Given the description of an element on the screen output the (x, y) to click on. 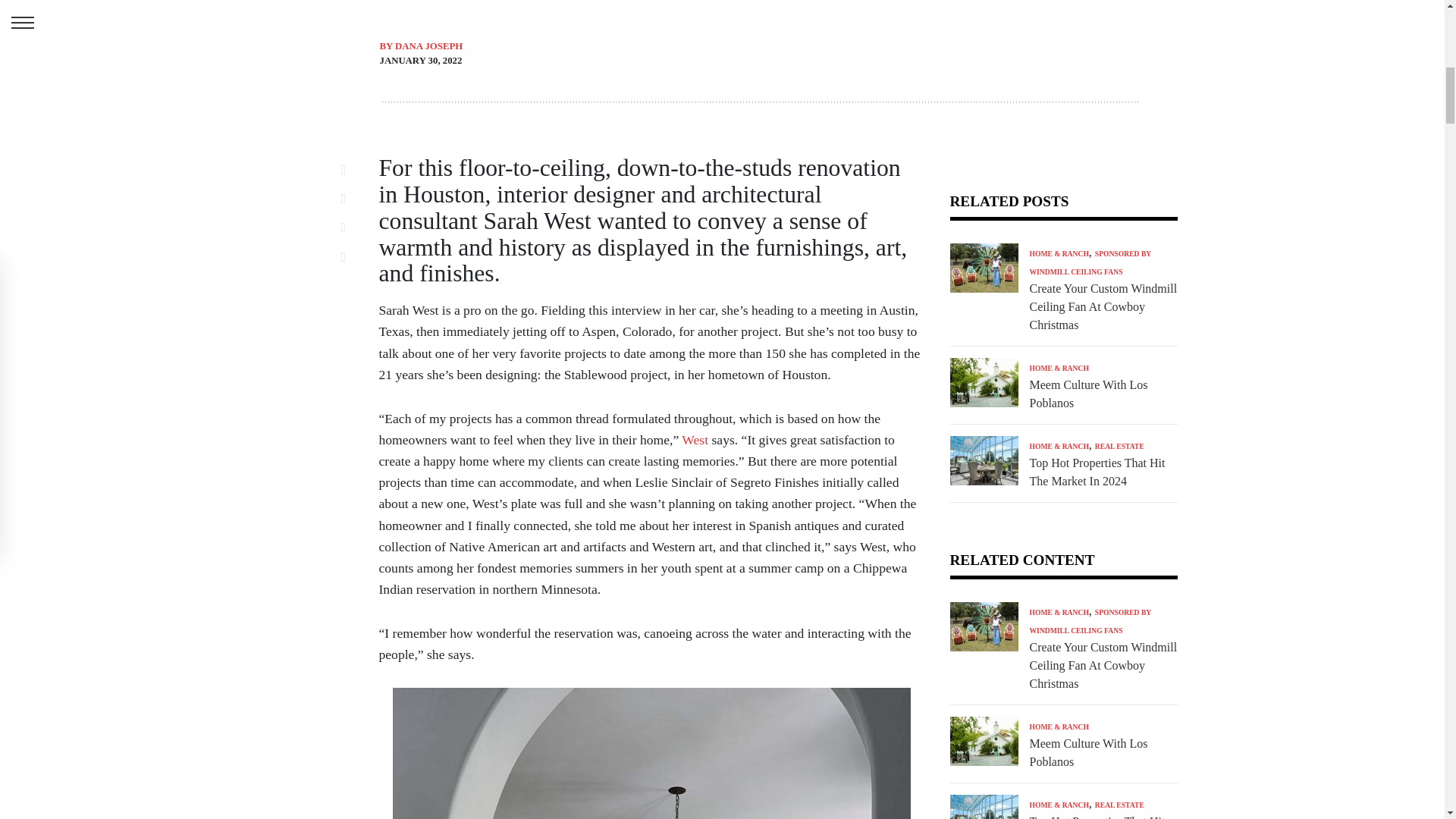
Tweet This Post (352, 198)
Share on Facebook (352, 169)
Share by Email (352, 255)
